Given the description of an element on the screen output the (x, y) to click on. 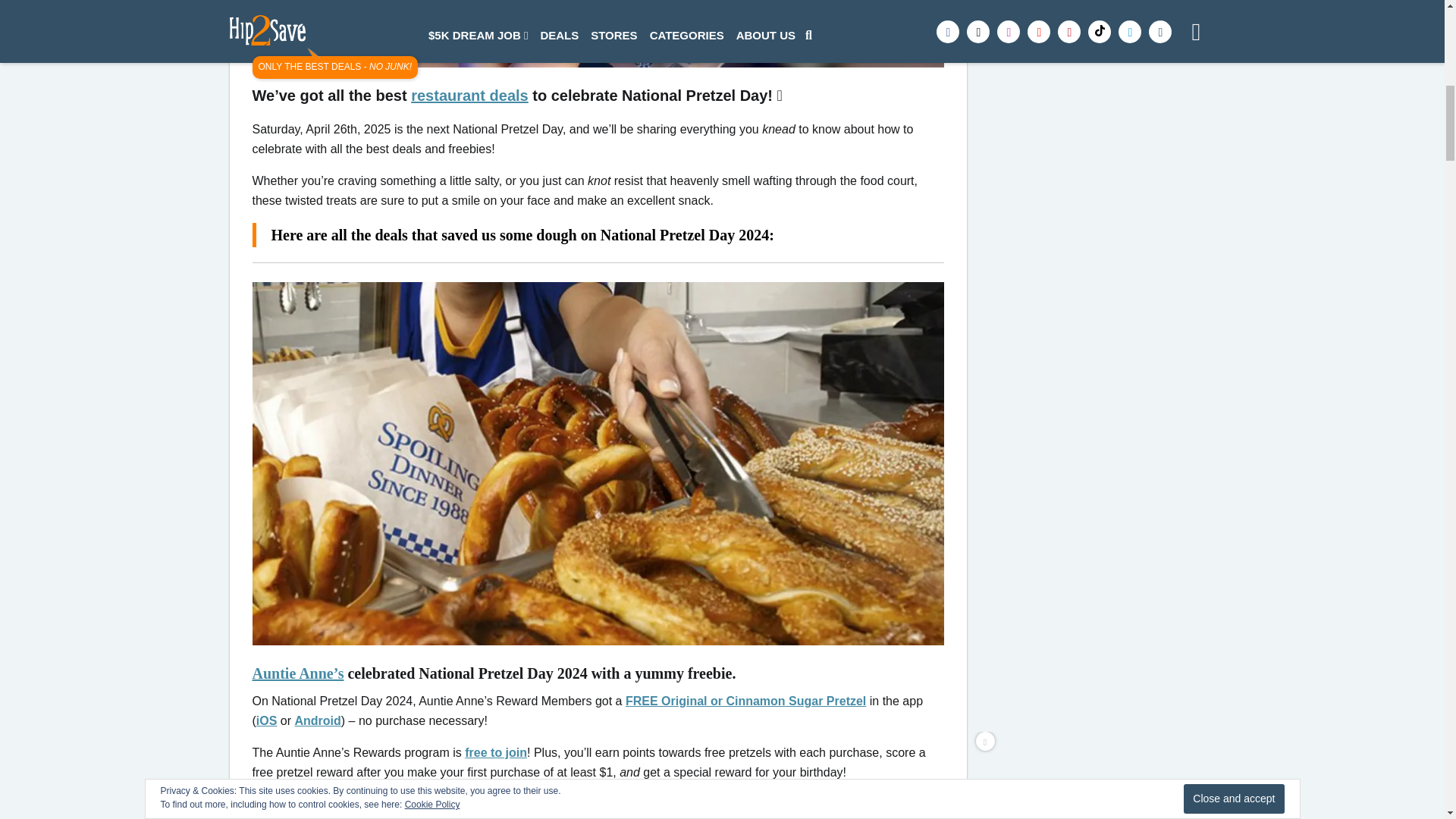
free to join (495, 752)
restaurant deals (469, 95)
iOS (267, 720)
FREE Original or Cinnamon Sugar Pretzel (746, 700)
Android (317, 720)
